Given the description of an element on the screen output the (x, y) to click on. 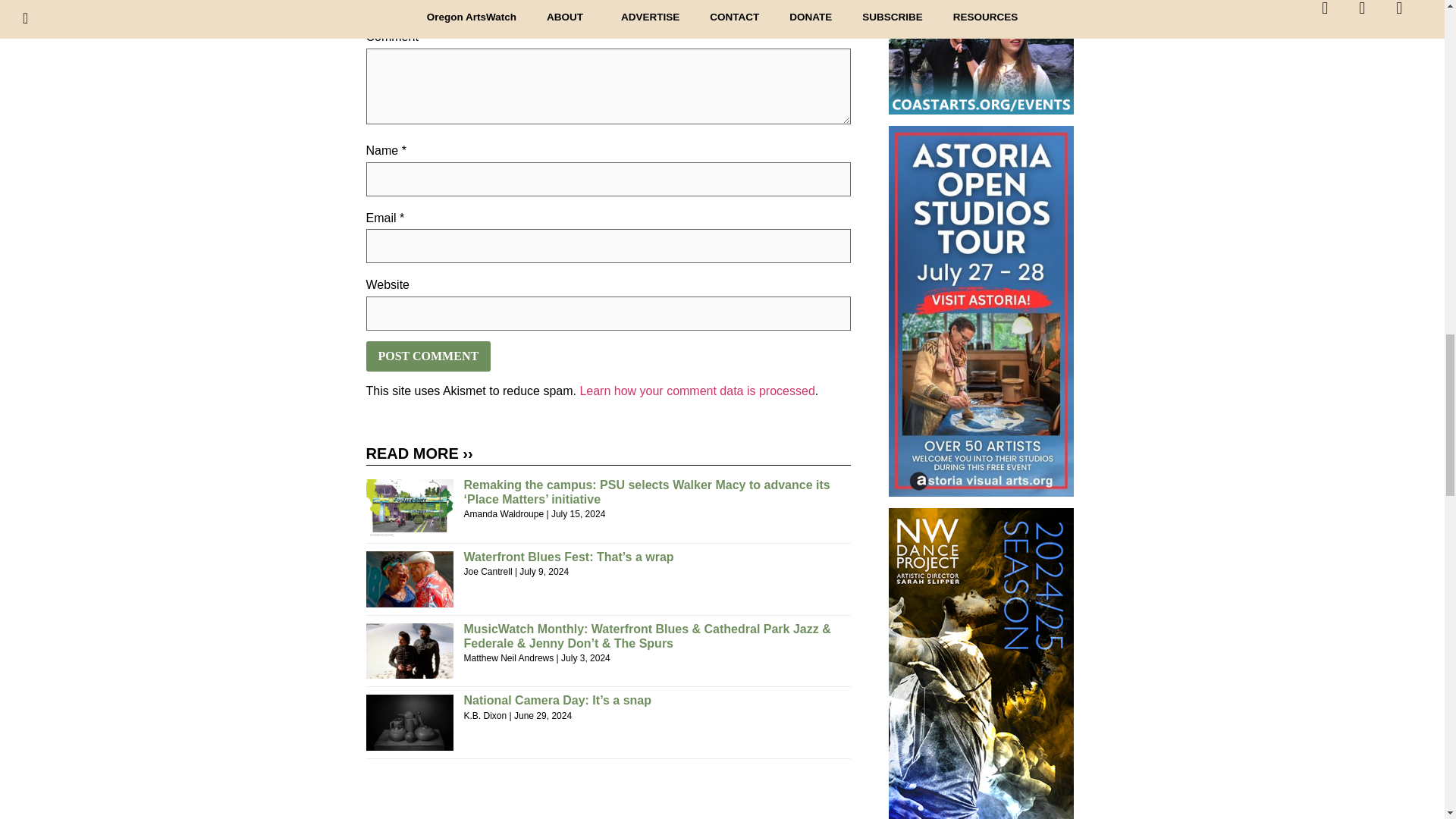
Post Comment (427, 356)
